Given the description of an element on the screen output the (x, y) to click on. 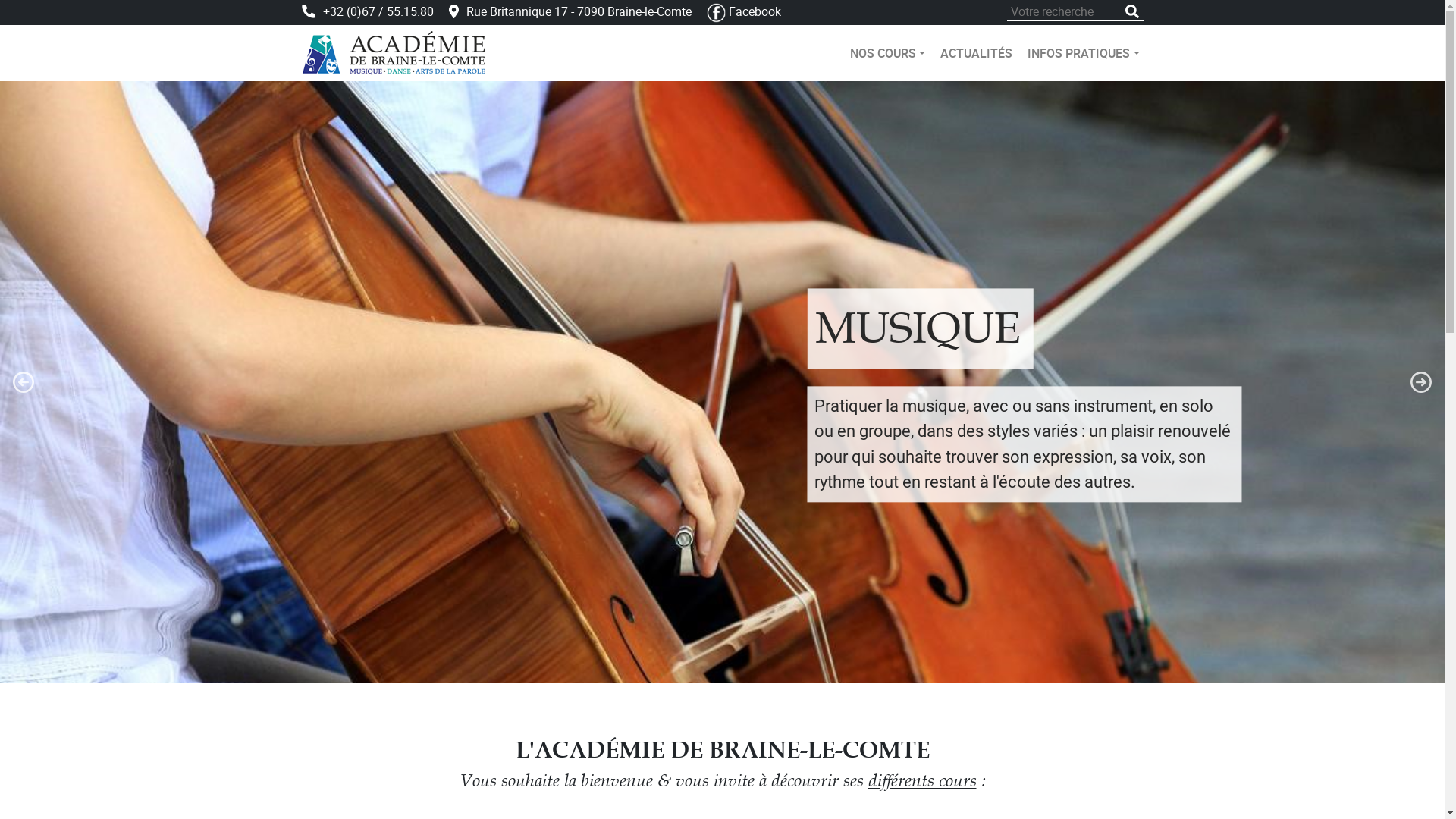
INFOS PRATIQUES Element type: text (1082, 52)
NOS COURS Element type: text (887, 52)
Facebook Element type: text (743, 11)
